Given the description of an element on the screen output the (x, y) to click on. 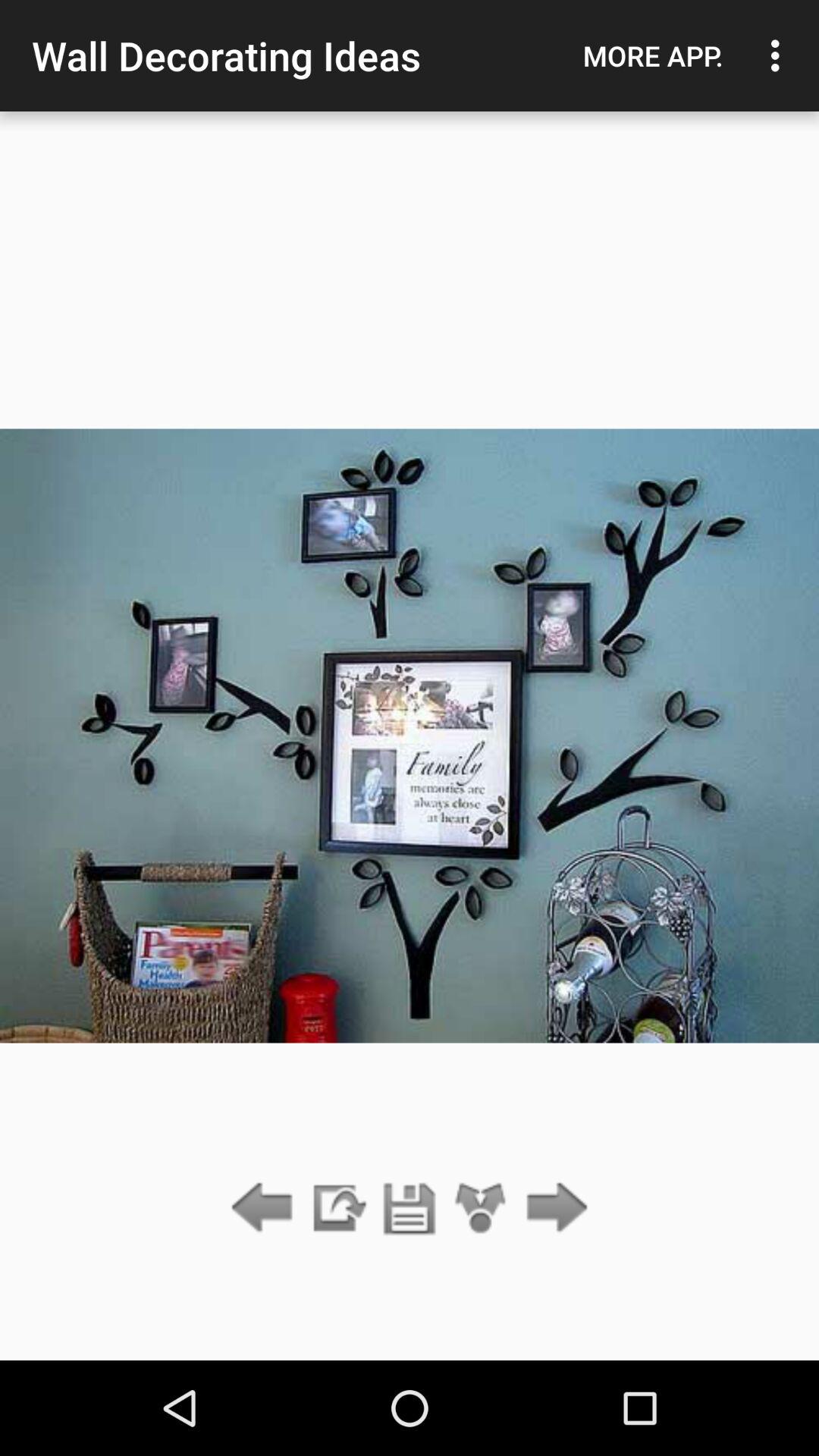
launch the item to the right of wall decorating ideas item (653, 55)
